Given the description of an element on the screen output the (x, y) to click on. 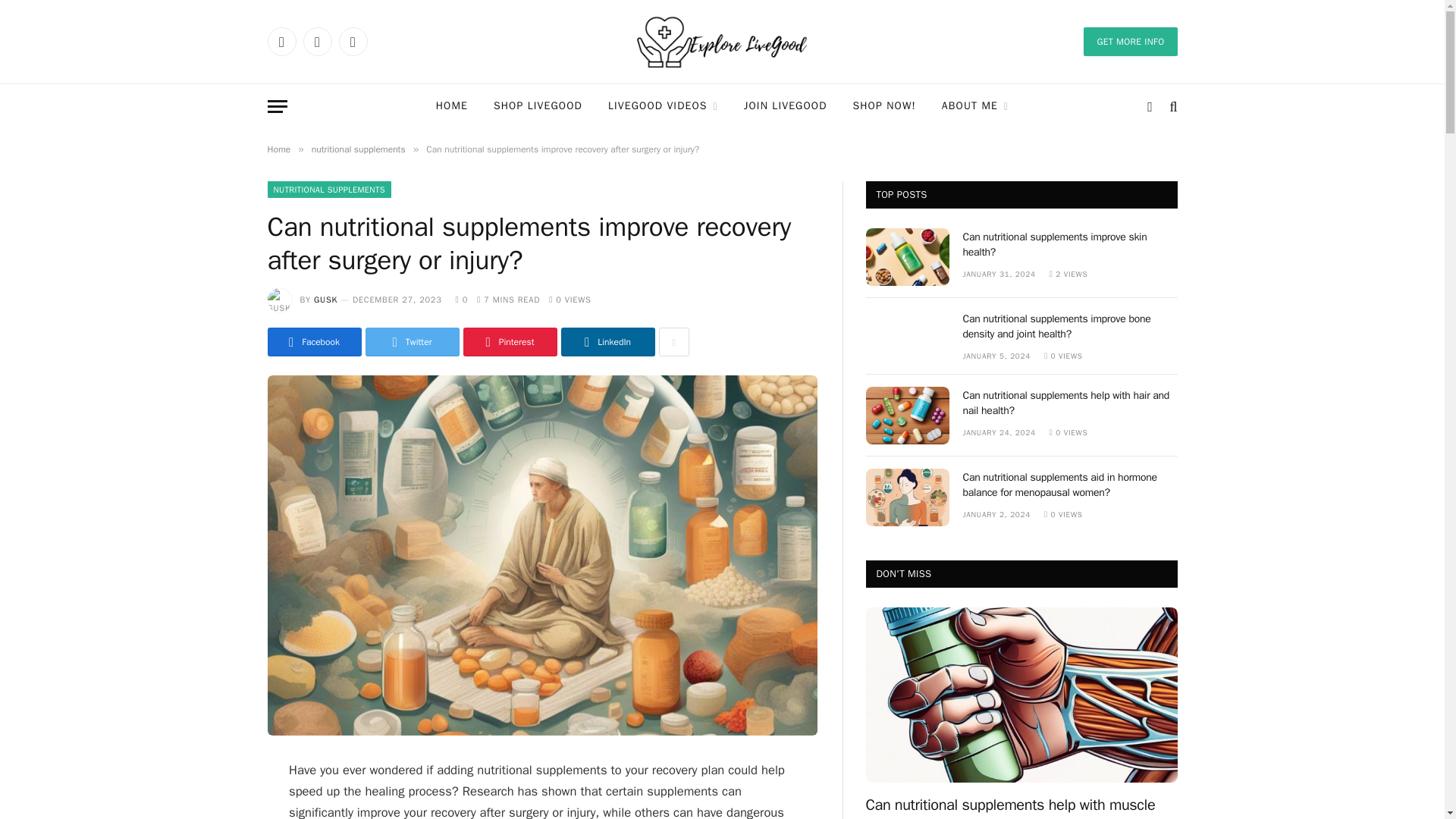
GET MORE INFO (1129, 41)
GUSK (325, 299)
0 (461, 299)
HOME (451, 106)
Share on Facebook (313, 341)
SHOP NOW! (884, 106)
JOIN LIVEGOOD (785, 106)
Posts by GusK (325, 299)
Facebook (280, 41)
nutritional supplements (358, 149)
Instagram (351, 41)
LIVEGOOD VIDEOS (662, 106)
0 Article Views (569, 299)
NUTRITIONAL SUPPLEMENTS (328, 189)
Explore LiveGood (722, 41)
